Given the description of an element on the screen output the (x, y) to click on. 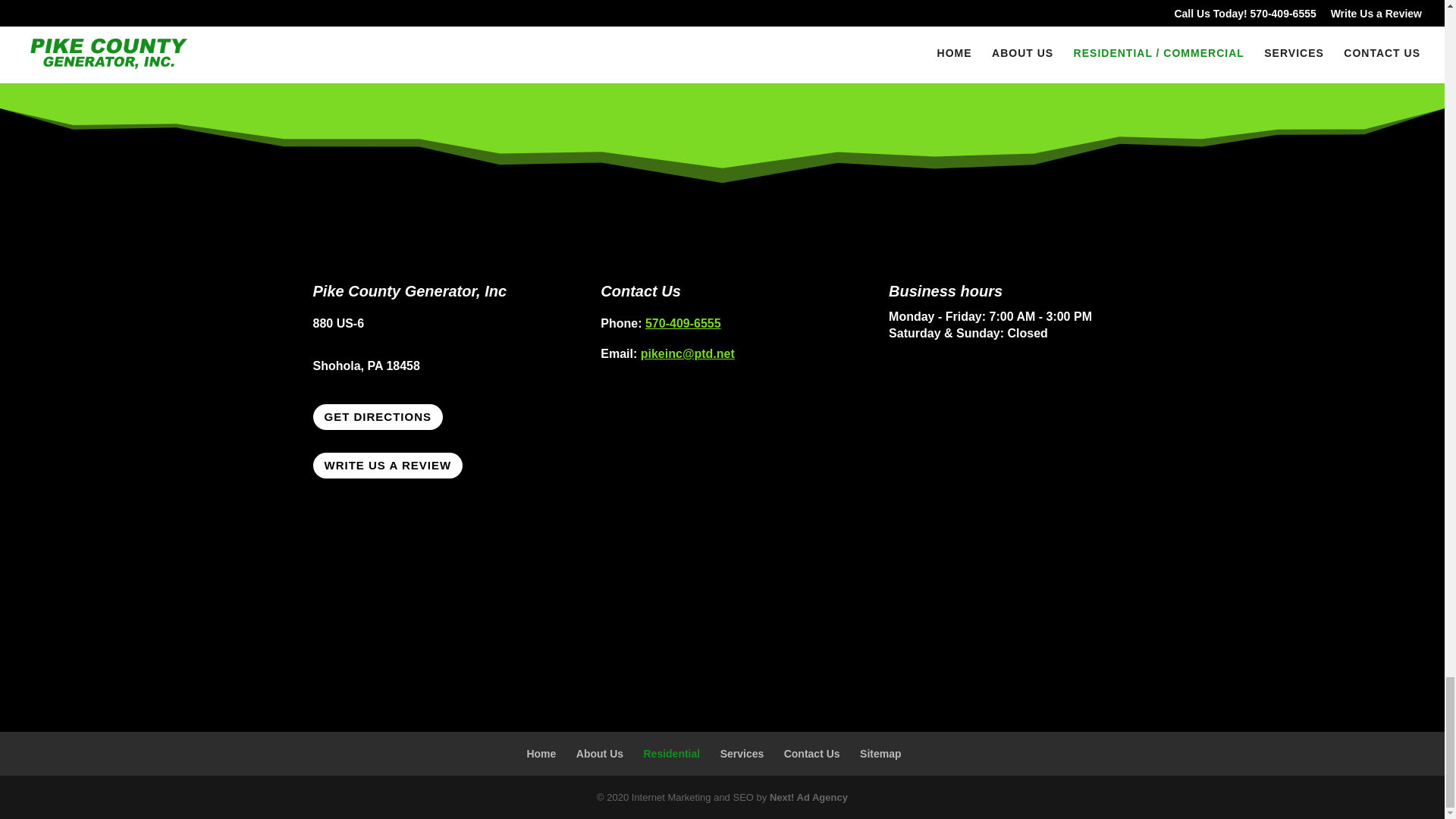
GET DIRECTIONS (377, 417)
WRITE US A REVIEW (388, 465)
880 US-6 (338, 323)
Shohola, PA 18458 (366, 365)
570-409-6555 (682, 323)
